Given the description of an element on the screen output the (x, y) to click on. 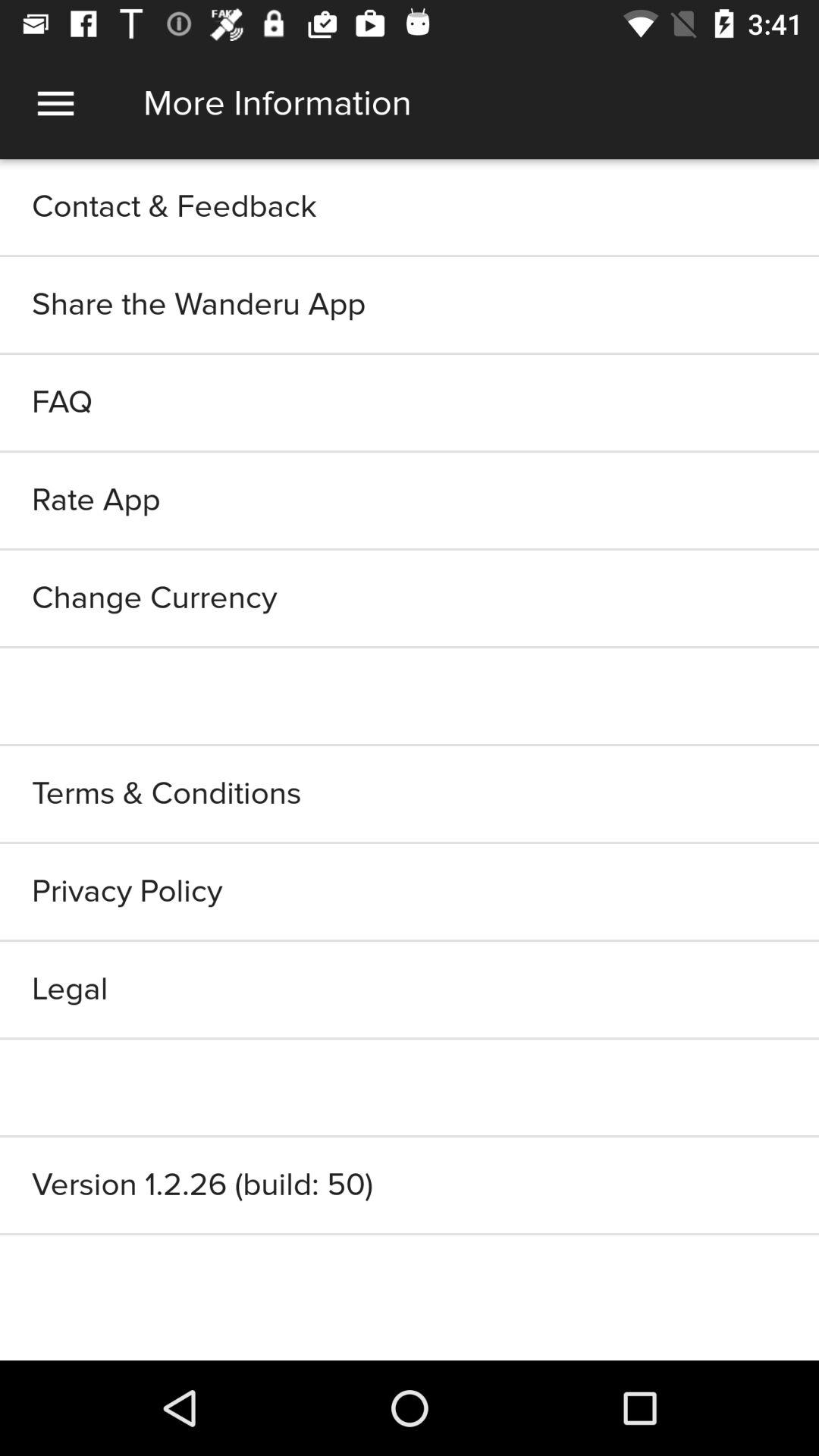
scroll to rate app (409, 500)
